Given the description of an element on the screen output the (x, y) to click on. 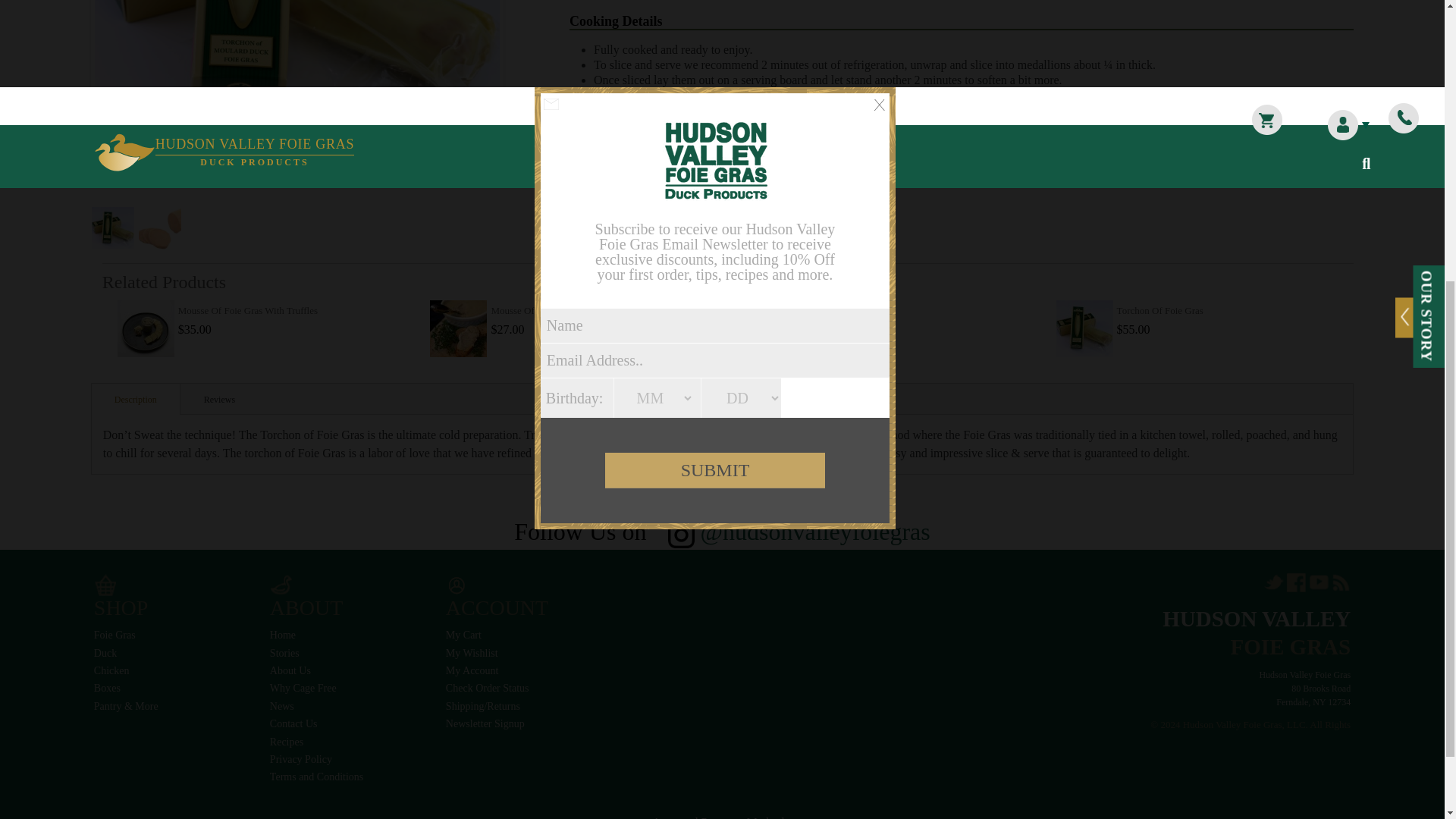
SUBMIT (715, 11)
Mousse of Foie Gras (458, 328)
Mousse of Foie Gras with Truffles (145, 328)
Terrine of Foie Gras  (771, 328)
